Given the description of an element on the screen output the (x, y) to click on. 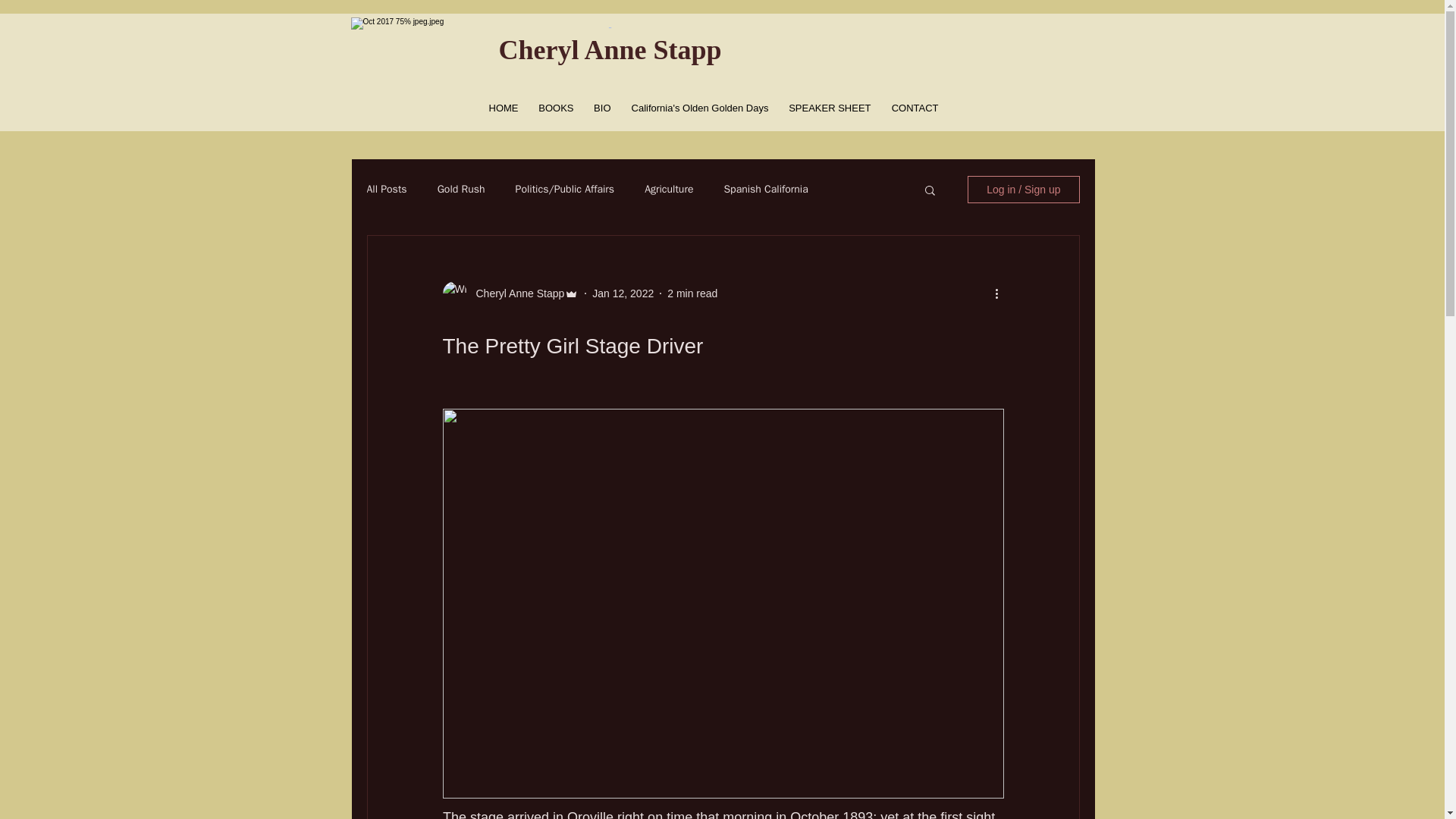
CONTACT (913, 107)
All Posts (386, 189)
Agriculture (669, 189)
California's Olden Golden Days (697, 107)
2 min read (691, 292)
Cheryl Anne Stapp (608, 50)
Gold Rush (461, 189)
Cheryl Anne Stapp (515, 293)
Spanish California (765, 189)
HOME (500, 107)
